Given the description of an element on the screen output the (x, y) to click on. 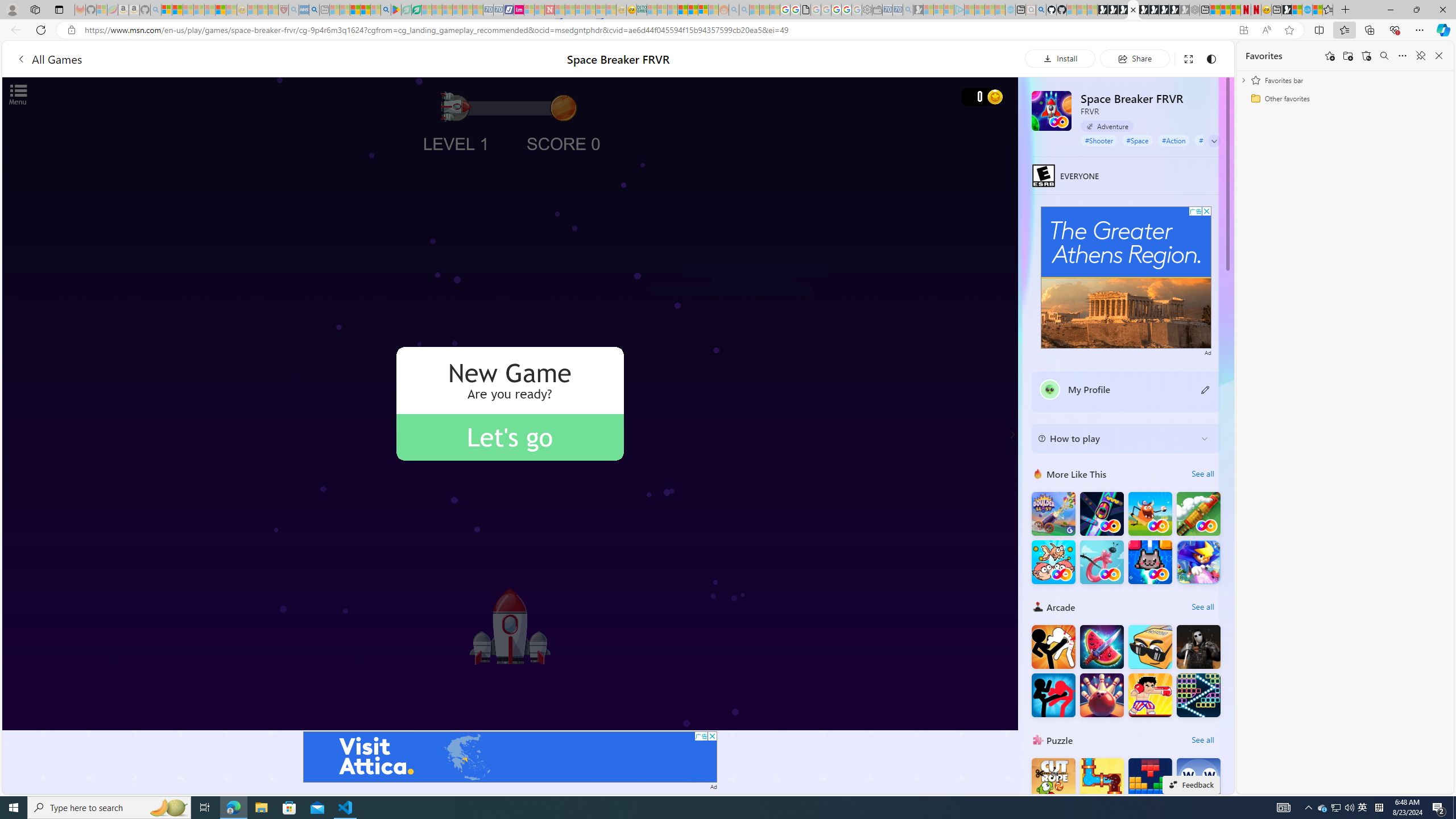
Cut the Rope (1053, 779)
Microsoft Word - consumer-privacy address update 2.2021 (416, 9)
See all (1202, 739)
EVERYONE (1043, 175)
Cubes2048 (1149, 646)
Space Breaker FRVR (1051, 110)
Balloon FRVR (1101, 562)
Full screen (1187, 58)
